Given the description of an element on the screen output the (x, y) to click on. 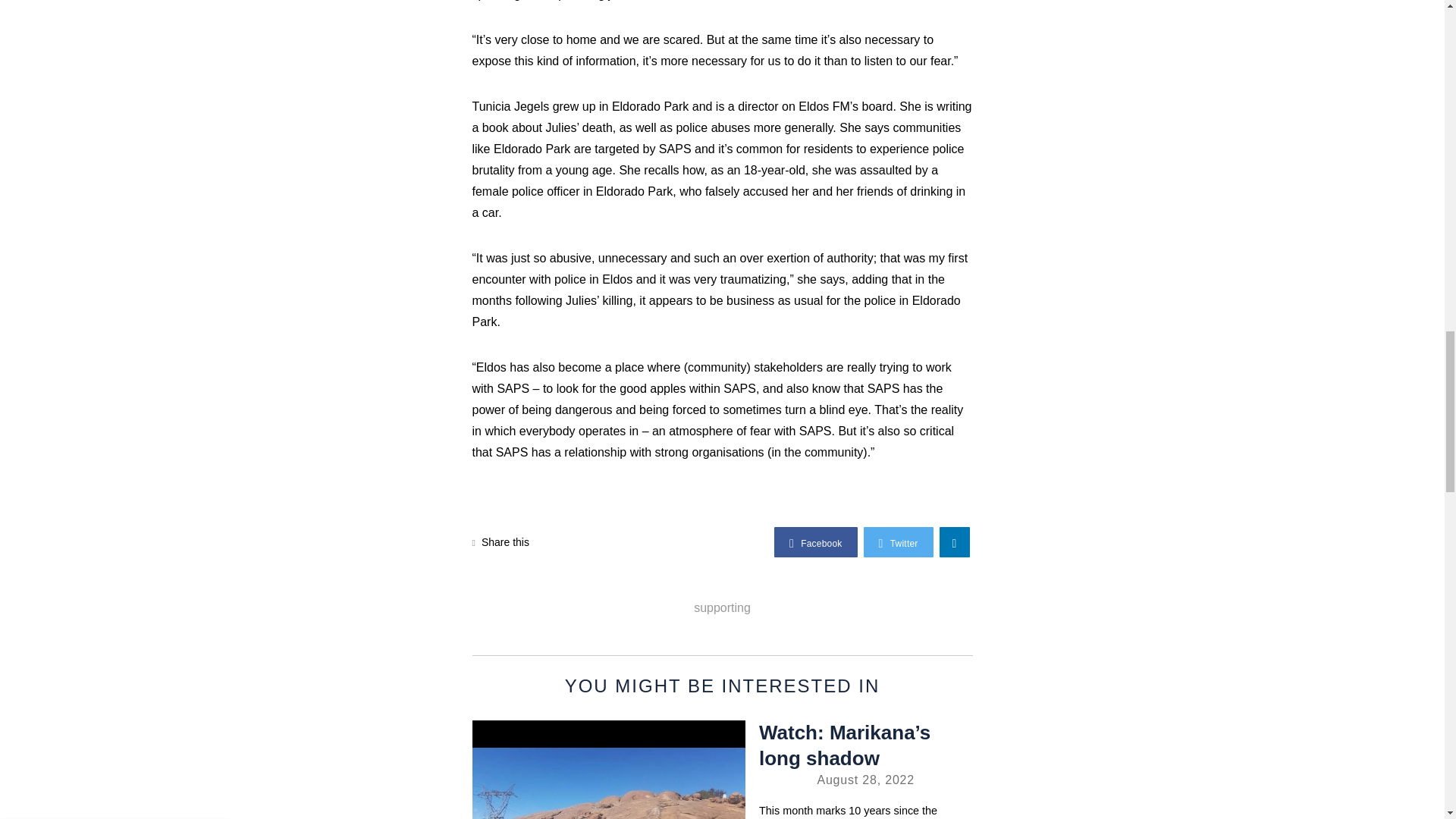
Twitter (898, 542)
supporting (722, 607)
Facebook (815, 542)
